Given the description of an element on the screen output the (x, y) to click on. 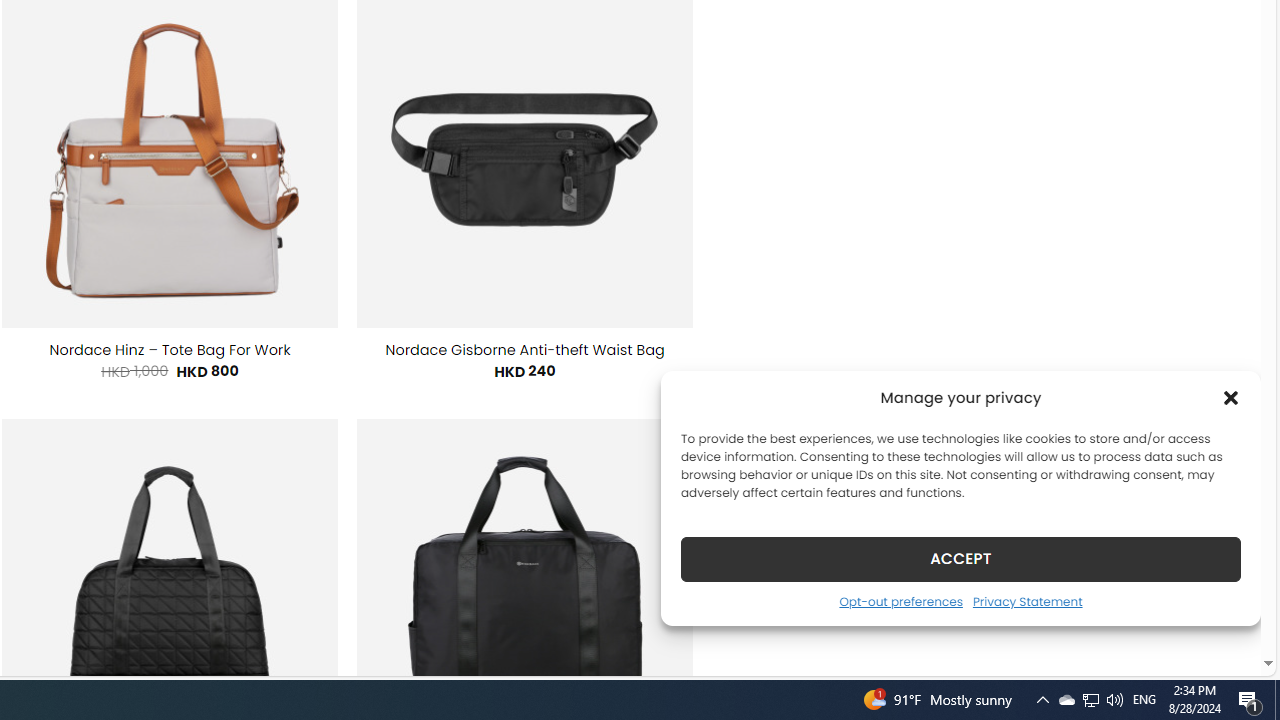
Nordace Gisborne Anti-theft Waist Bag (525, 350)
Privacy Statement (1026, 601)
Class: cmplz-close (1231, 397)
ACCEPT (960, 558)
Opt-out preferences (900, 601)
